Given the description of an element on the screen output the (x, y) to click on. 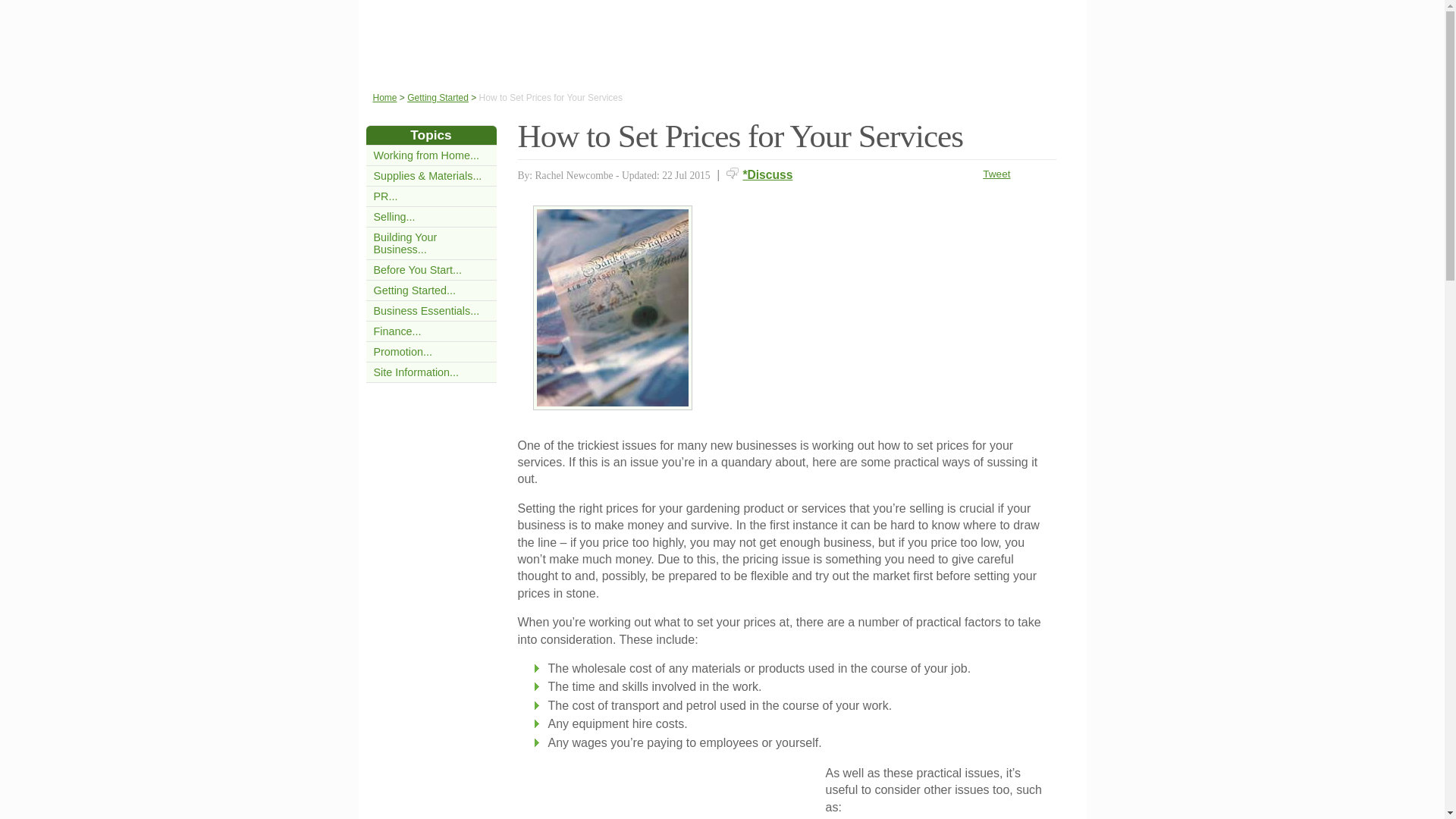
Before You Start... (416, 269)
Site Information... (415, 372)
Home (384, 97)
PR... (384, 196)
Selling... (393, 216)
Building Your Business... (404, 242)
Getting Started... (413, 290)
Business Essentials... (425, 310)
Working from Home... (425, 155)
Promotion... (401, 351)
Advertisement (674, 796)
Advertisement (889, 311)
Finance... (396, 331)
Getting Started (437, 97)
Tweet (996, 173)
